Given the description of an element on the screen output the (x, y) to click on. 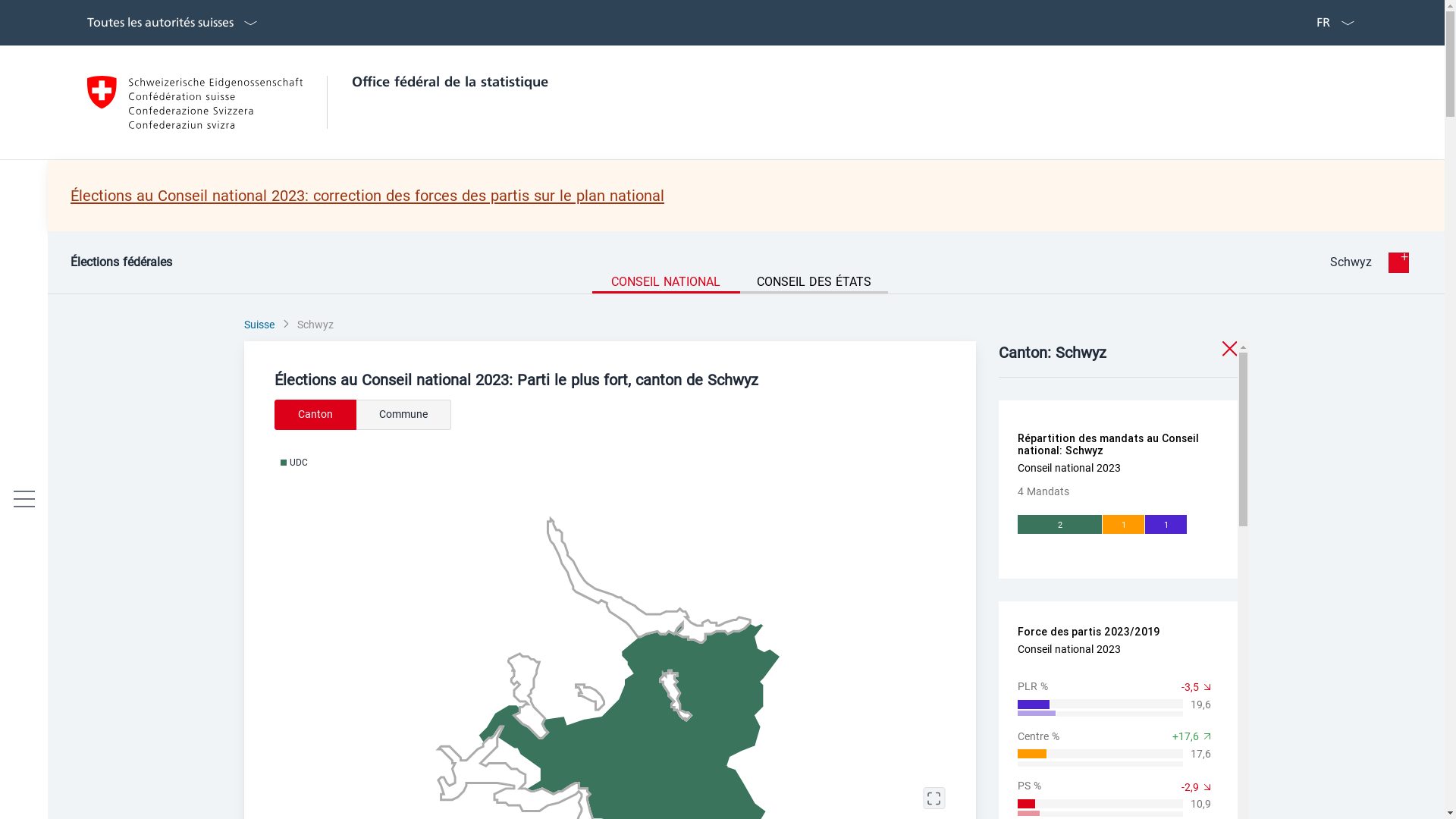
CONSEIL NATIONAL Element type: text (665, 283)
Suisse Element type: text (259, 324)
Fit to extent Element type: hover (933, 798)
